Given the description of an element on the screen output the (x, y) to click on. 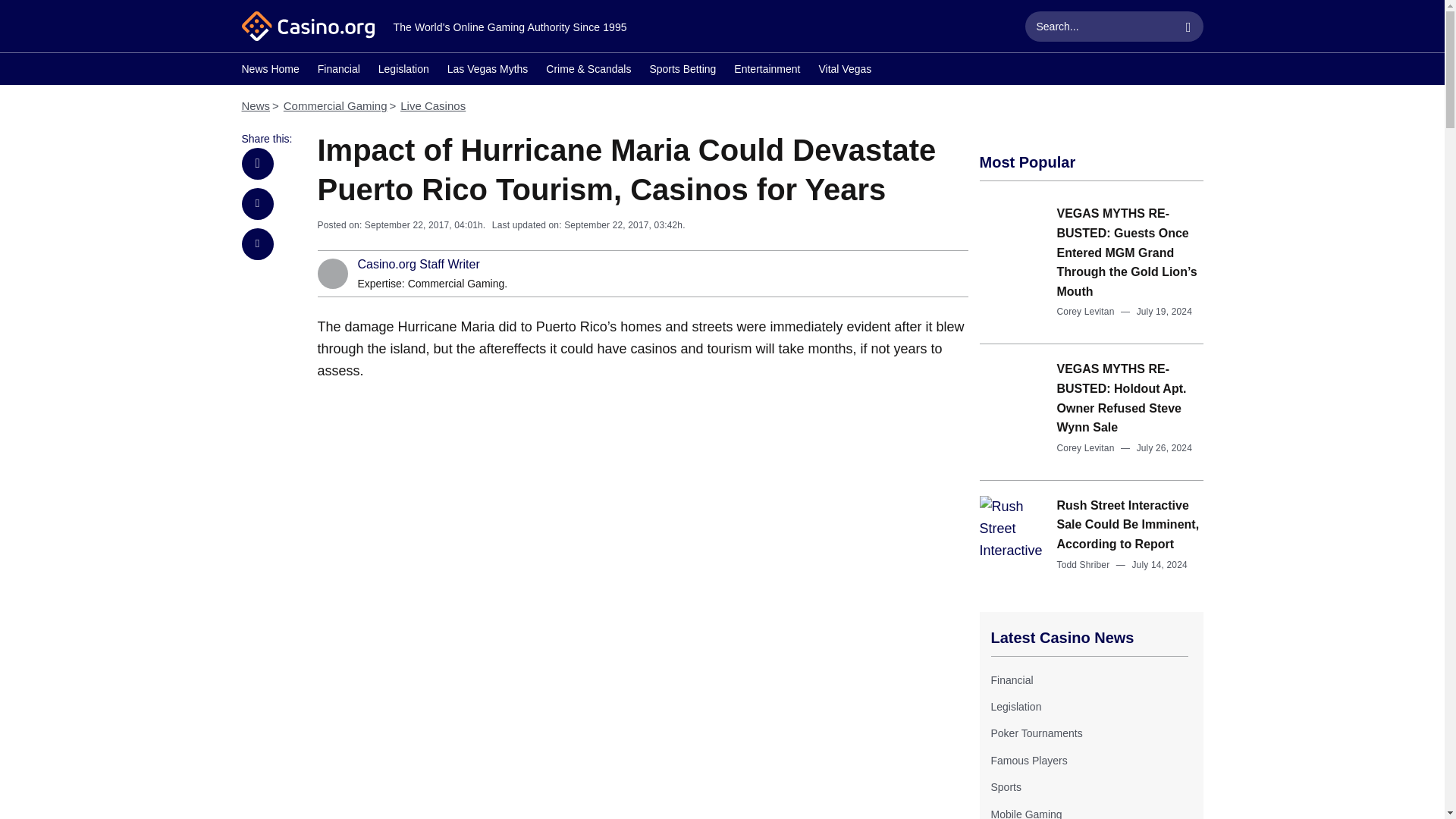
Live Casinos (432, 105)
Commercial Gaming (456, 283)
Sports (1005, 787)
Casino.org Staff Writer (419, 264)
Corey Levitan (1086, 448)
Entertainment (766, 70)
Vital Vegas (845, 70)
Financial (1011, 680)
Financial (1011, 680)
Todd Shriber (1083, 564)
Corey Levitan (1086, 311)
Legislation (1015, 706)
Sports (1005, 787)
